Given the description of an element on the screen output the (x, y) to click on. 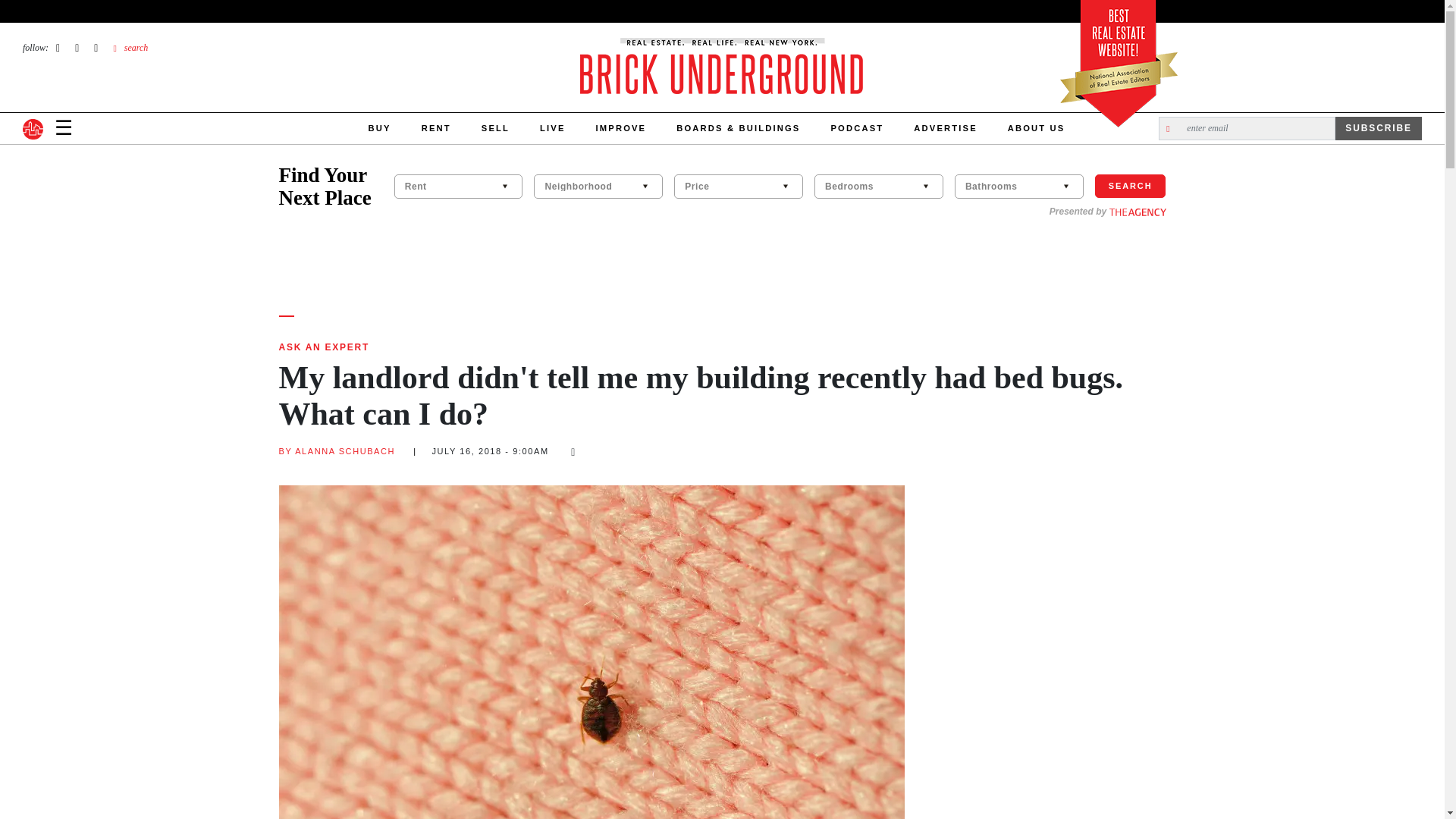
RENT (435, 128)
BUY (379, 128)
